Given the description of an element on the screen output the (x, y) to click on. 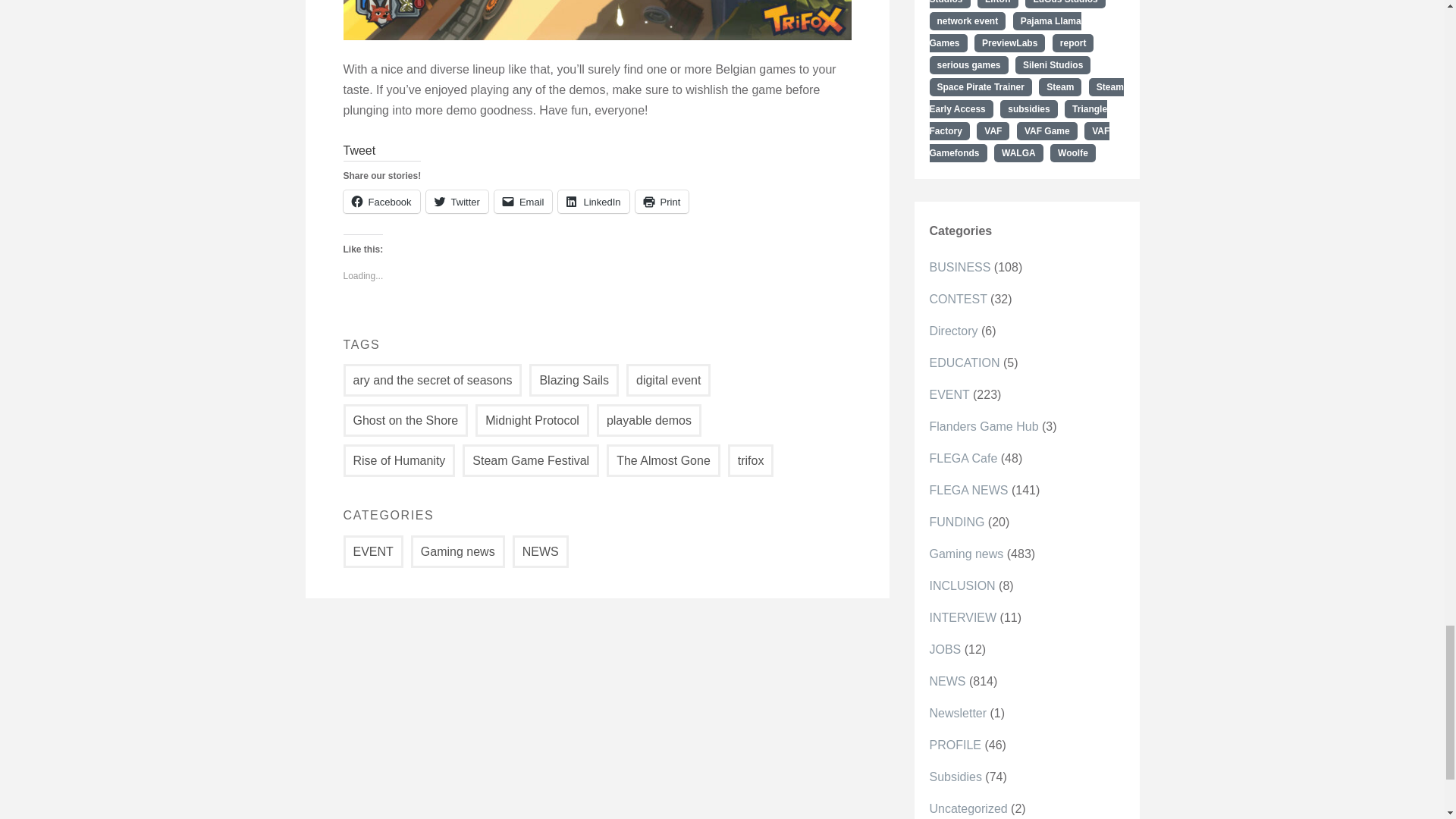
The Almost Gone (663, 460)
trifox (751, 460)
Ghost on the Shore (404, 420)
Steam Game Festival (530, 460)
Blazing Sails (573, 379)
Tweet (358, 150)
Rise of Humanity (398, 460)
EVENT (372, 551)
Print (661, 201)
NEWS (540, 551)
Click to share on Twitter (456, 201)
Twitter (456, 201)
Midnight Protocol (532, 420)
Facebook (380, 201)
ary and the secret of seasons (431, 379)
